Given the description of an element on the screen output the (x, y) to click on. 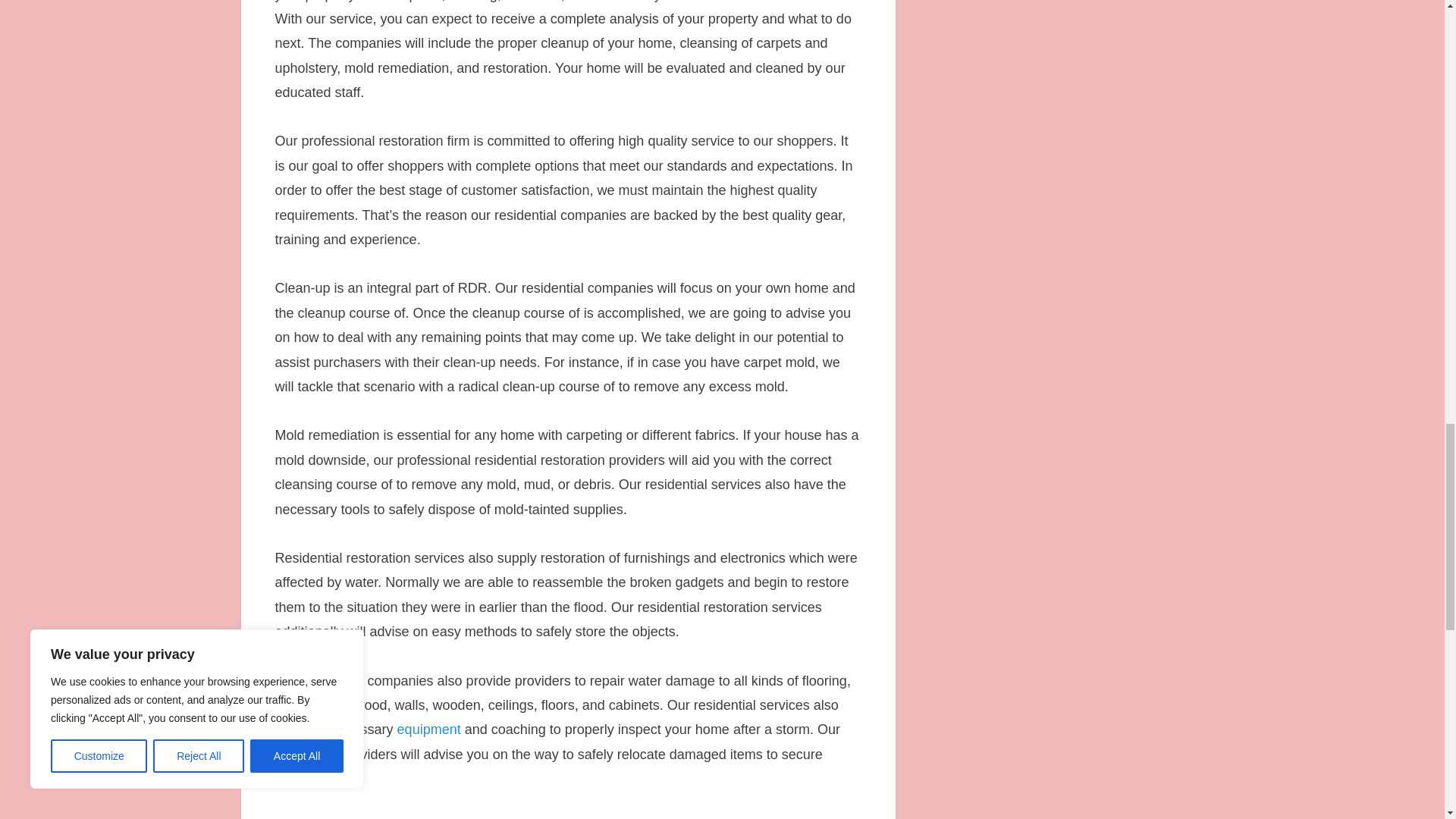
equipment (429, 729)
